Given the description of an element on the screen output the (x, y) to click on. 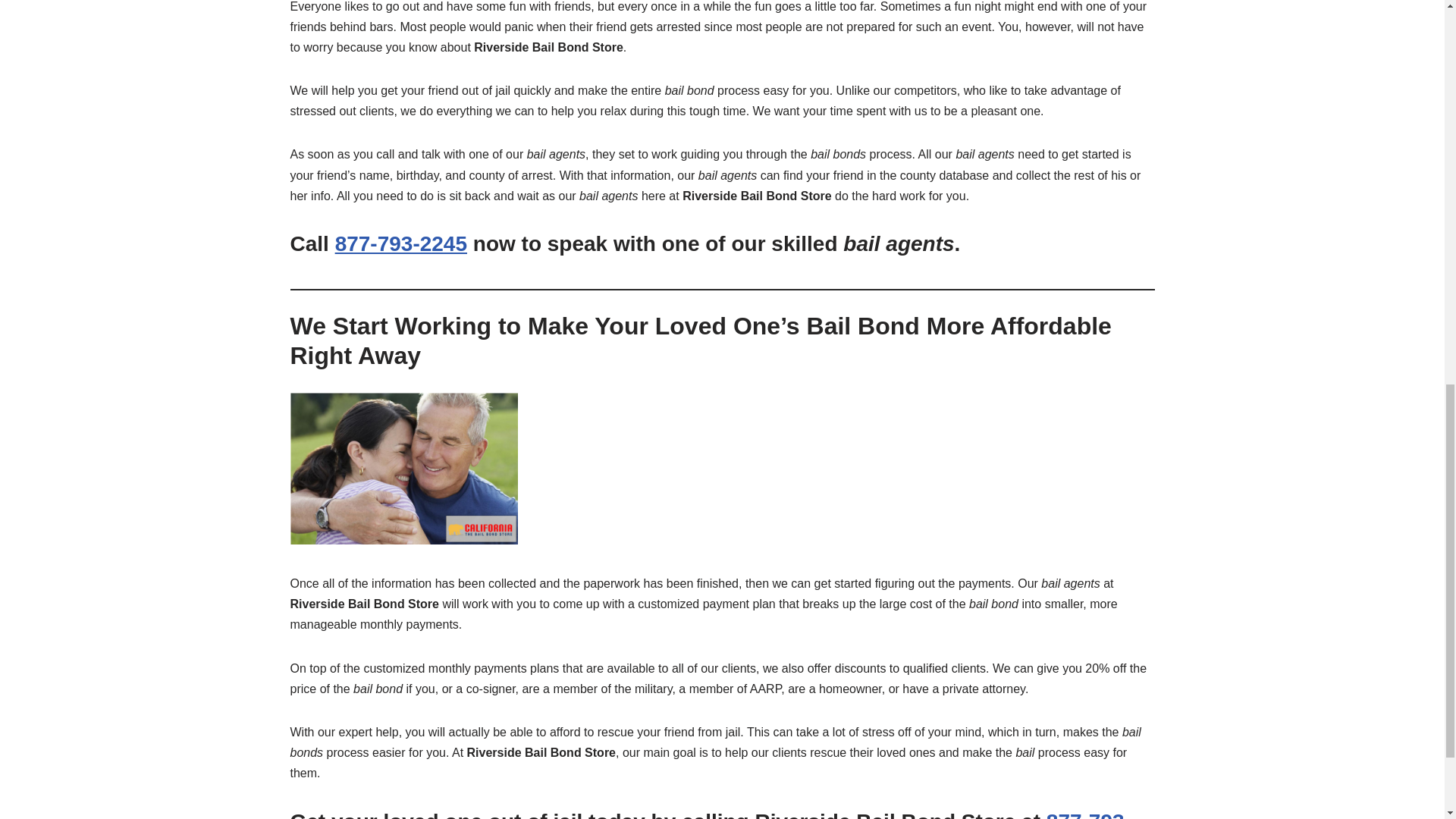
877-793-2245 (400, 243)
